Given the description of an element on the screen output the (x, y) to click on. 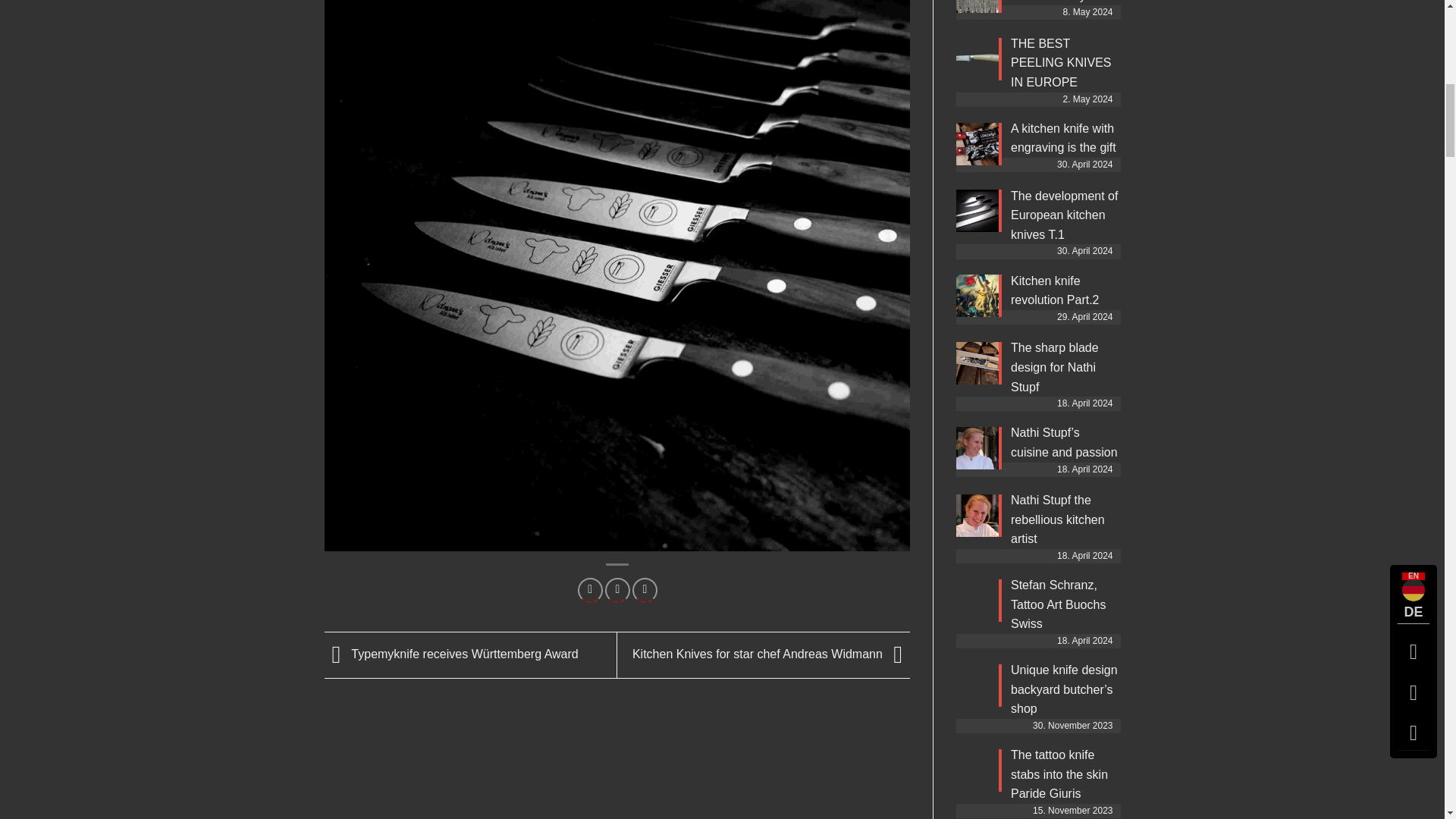
The sharp blade design for Nathi Stupf (1054, 367)
Karelian burl birch A Nordic beauty (1064, 1)
A kitchen knife with engraving is the gift (1063, 138)
Email to a Friend (617, 590)
Kitchen knife revolution Part.2 (1054, 290)
Nathi Stupf the rebellious kitchen artist (1057, 519)
Stefan Schranz, Tattoo Art Buochs Swiss (1057, 603)
THE BEST PEELING KNIVES IN EUROPE (1061, 62)
The development of European kitchen knives T.1 (1064, 214)
Pin on Pinterest (644, 590)
Kitchen Knives for star chef Andreas Widmann (770, 653)
Share on Facebook (590, 590)
